Given the description of an element on the screen output the (x, y) to click on. 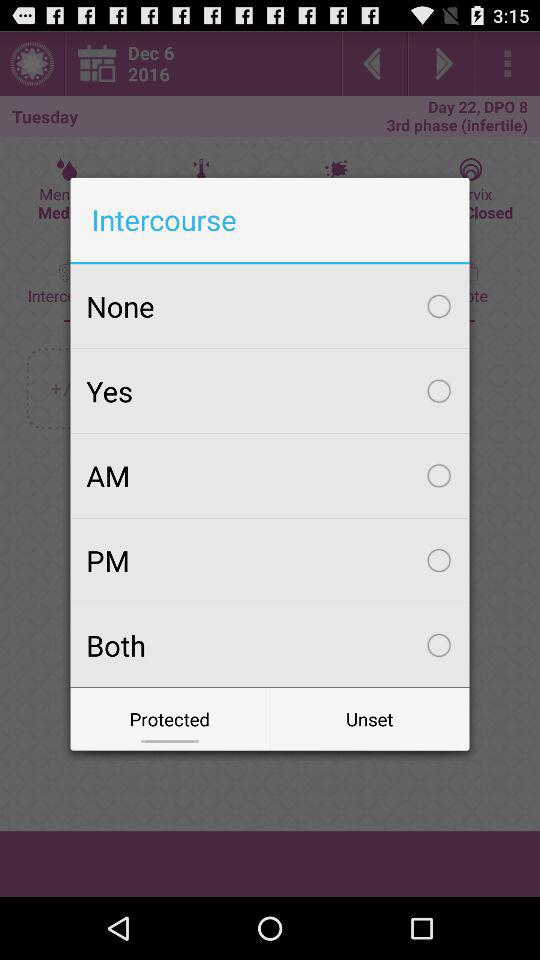
choose button to the left of unset item (169, 718)
